Given the description of an element on the screen output the (x, y) to click on. 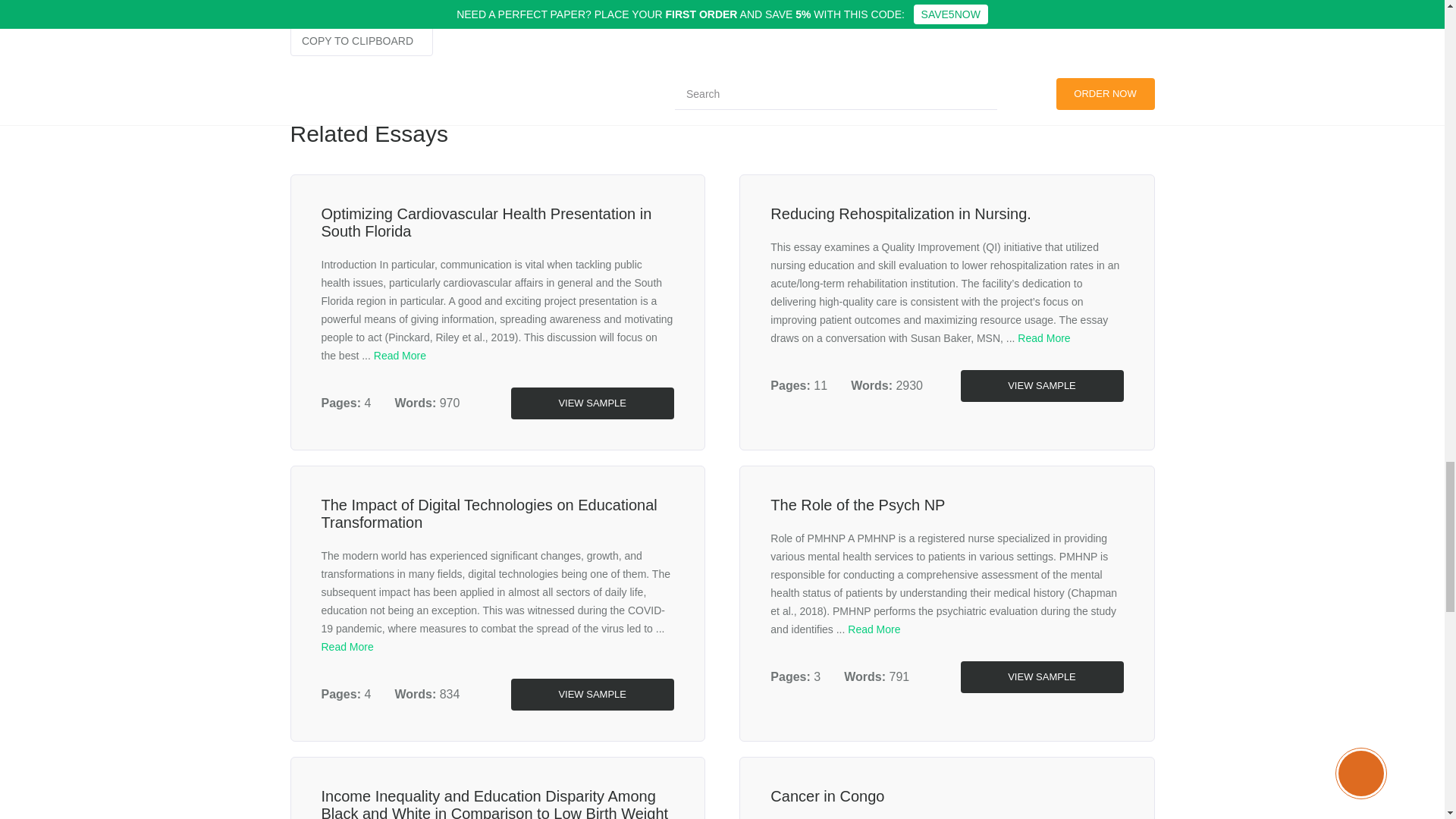
Read More (400, 355)
VIEW SAMPLE (592, 694)
VIEW SAMPLE (1040, 386)
Cancer in Congo (826, 795)
VIEW SAMPLE (1040, 676)
The Role of the Psych NP (857, 504)
VIEW SAMPLE (592, 403)
Read More (1043, 337)
Reducing Rehospitalization in Nursing. (900, 213)
Read More (873, 629)
Read More (347, 646)
